Given the description of an element on the screen output the (x, y) to click on. 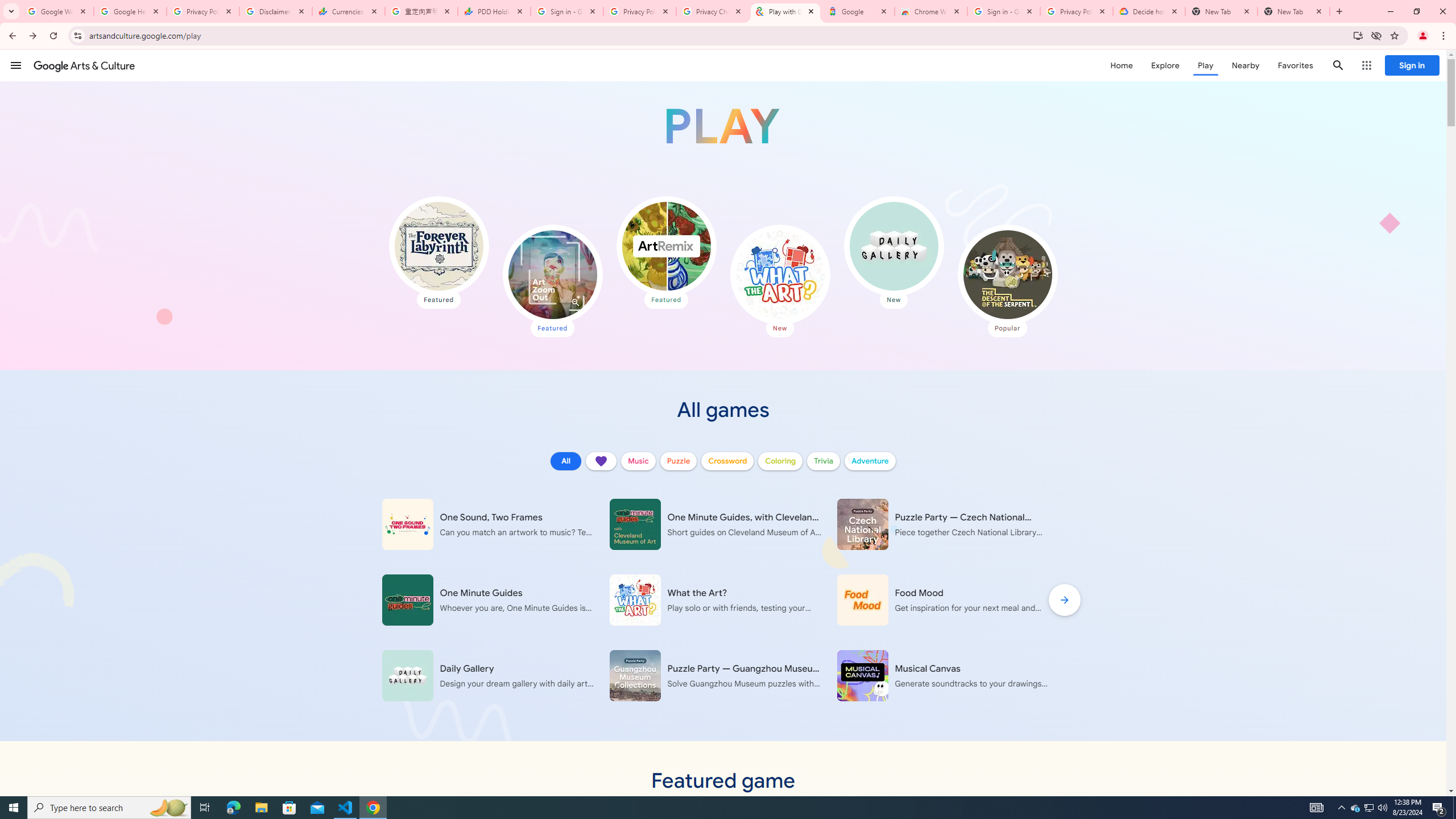
The Forever Labyrinth (438, 246)
Google Arts & Culture (84, 65)
Play (1205, 65)
PDD Holdings Inc - ADR (PDD) Price & News - Google Finance (493, 11)
New Tab (1293, 11)
